Given the description of an element on the screen output the (x, y) to click on. 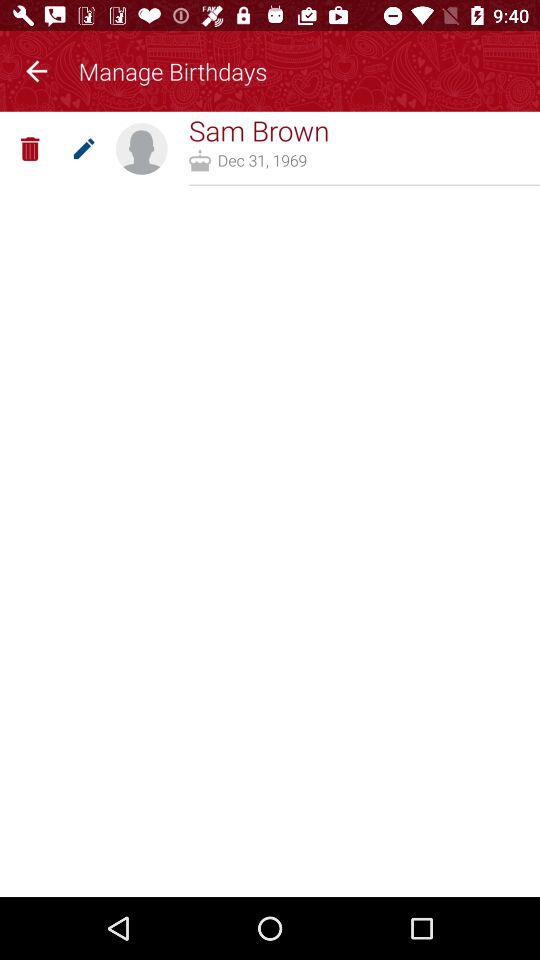
select icon below sam brown icon (262, 160)
